Given the description of an element on the screen output the (x, y) to click on. 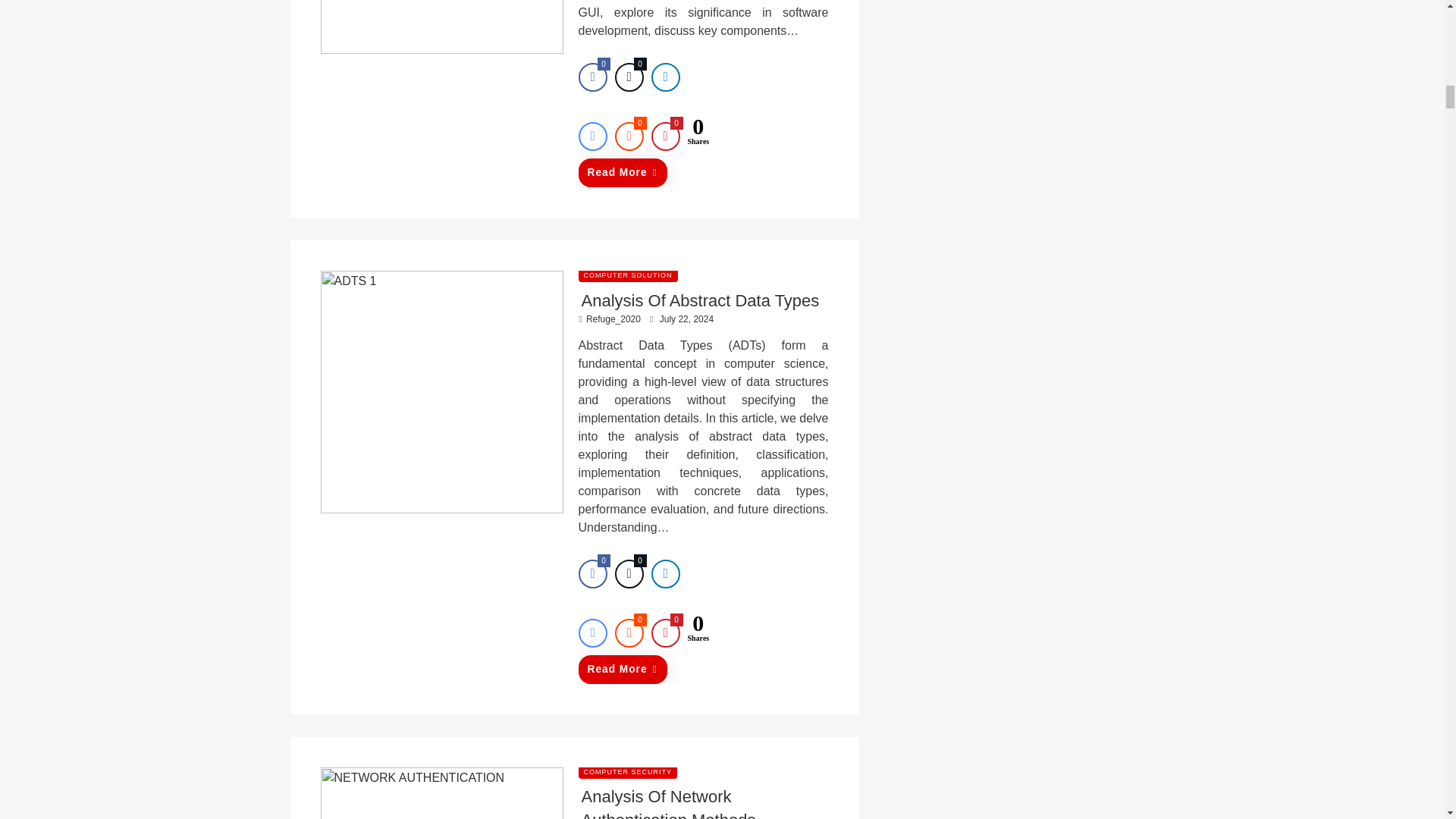
Analysis Of Abstract Data Types 11 (441, 392)
Analysis Of Network Authentication Methods 12 (441, 793)
What Is Gui In Programming 10 (441, 27)
